Given the description of an element on the screen output the (x, y) to click on. 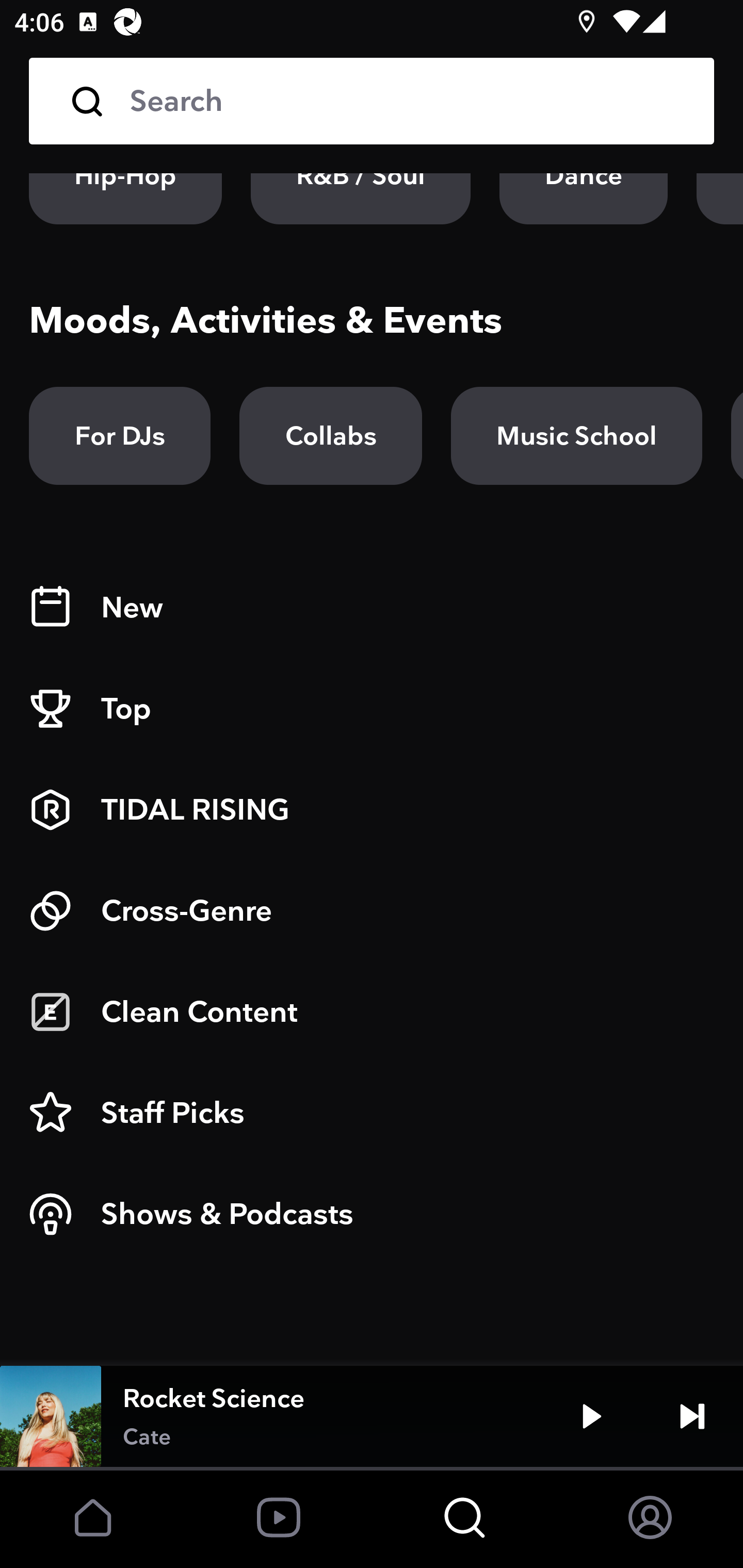
Search (371, 101)
Search (407, 100)
For DJs (119, 435)
Collabs (330, 435)
Music School (576, 435)
New (371, 607)
Top (371, 708)
TIDAL RISING (371, 809)
Cross-Genre (371, 910)
Clean Content (371, 1012)
Staff Picks (371, 1113)
Shows & Podcasts (371, 1214)
Rocket Science Cate Play (371, 1416)
Play (590, 1416)
